Given the description of an element on the screen output the (x, y) to click on. 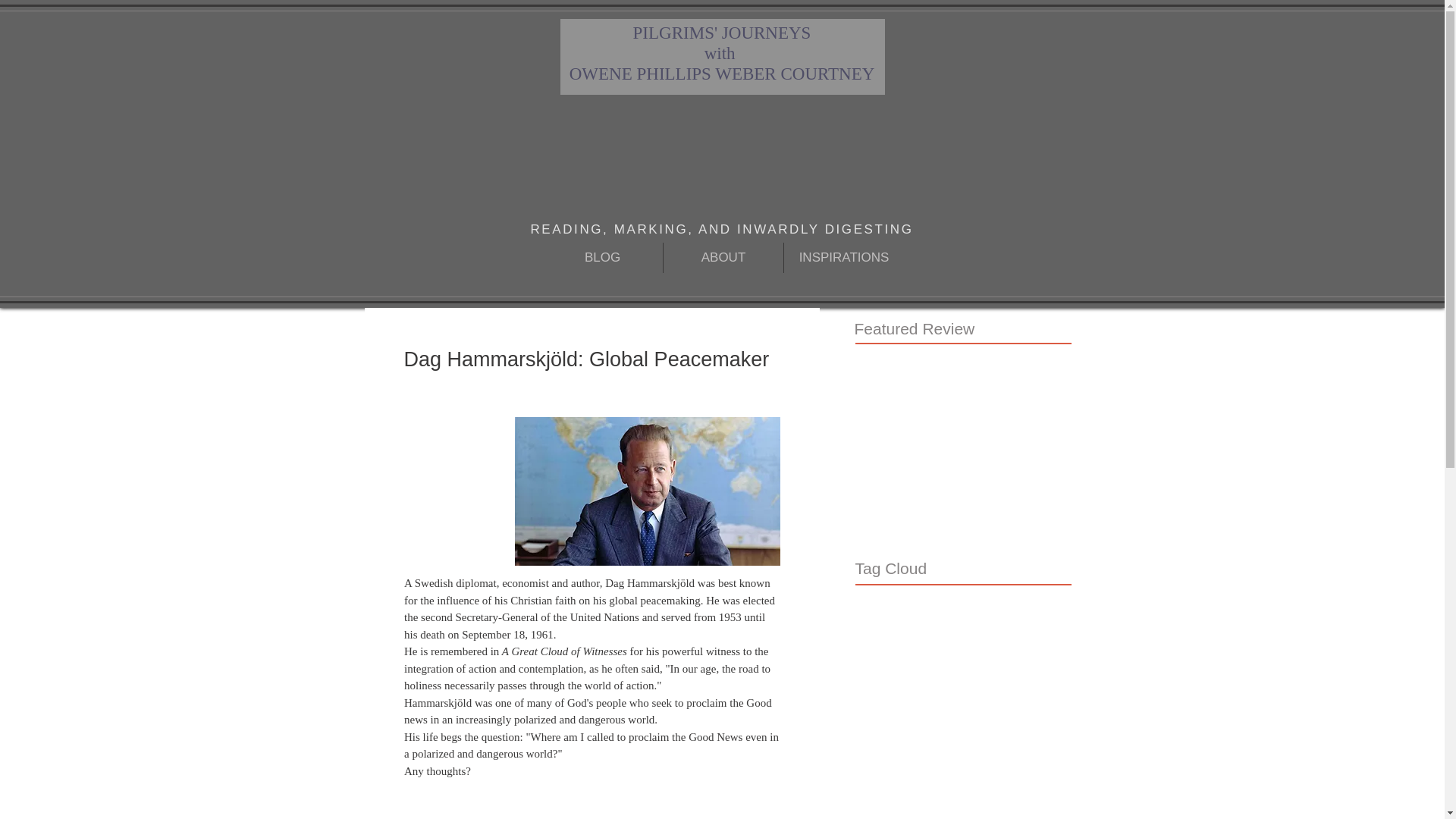
BLOG (601, 257)
ABOUT (723, 257)
INSPIRATIONS (844, 257)
